Given the description of an element on the screen output the (x, y) to click on. 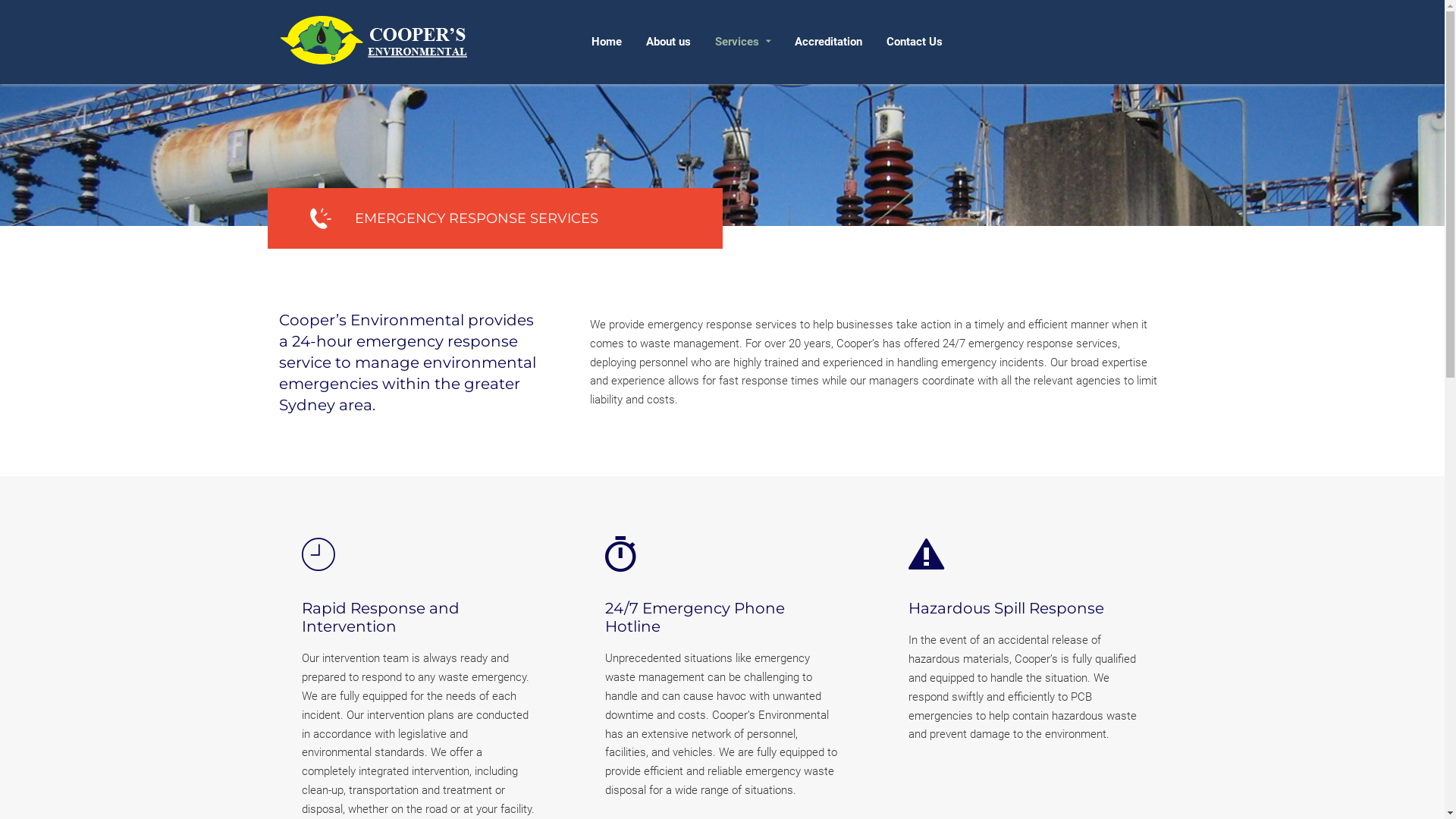
Accreditation Element type: text (828, 42)
Home Element type: text (606, 42)
Contact Us Element type: text (913, 42)
Services Element type: text (741, 42)
About us Element type: text (668, 42)
